Given the description of an element on the screen output the (x, y) to click on. 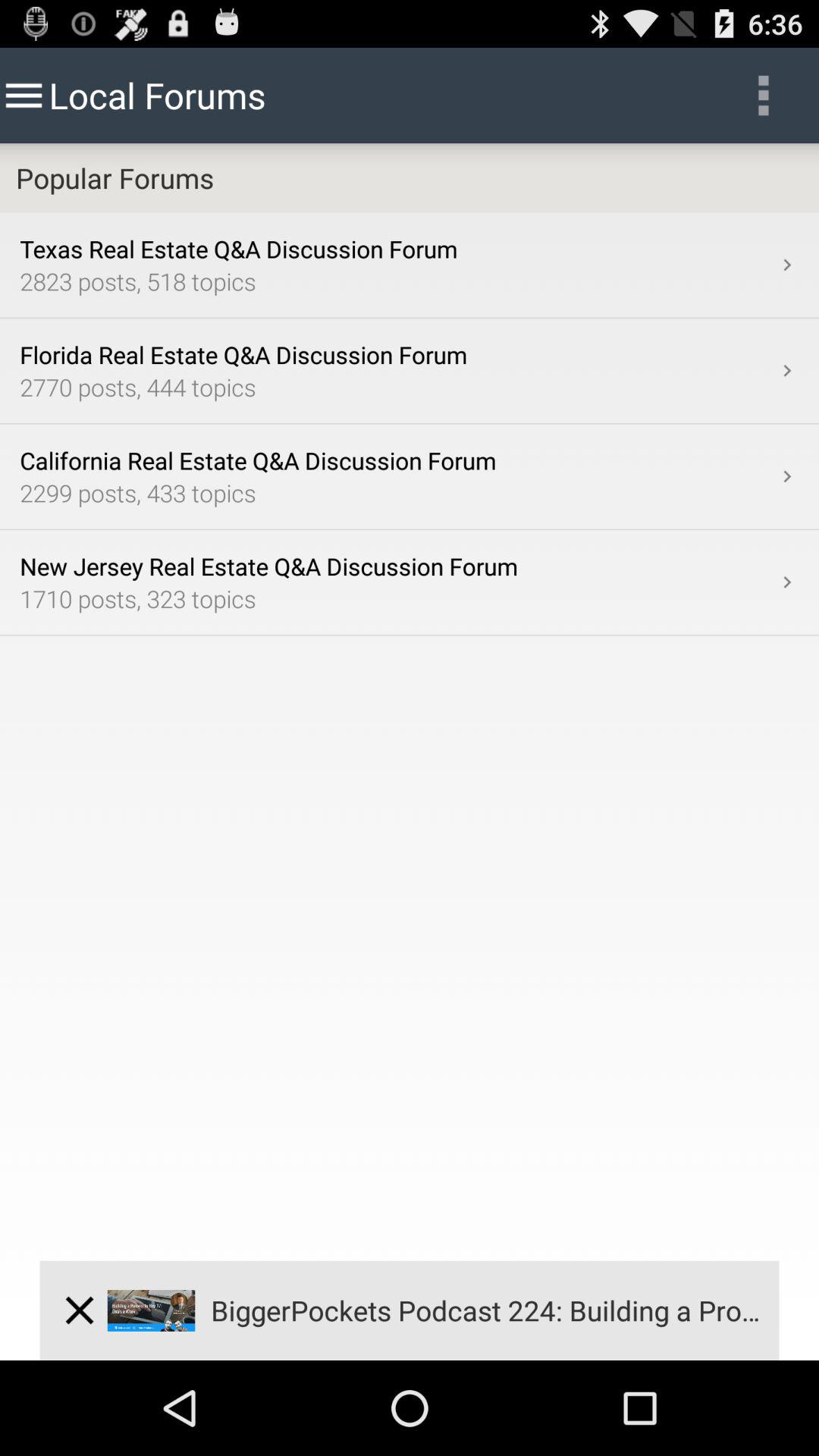
select the item above new jersey real item (397, 492)
